Given the description of an element on the screen output the (x, y) to click on. 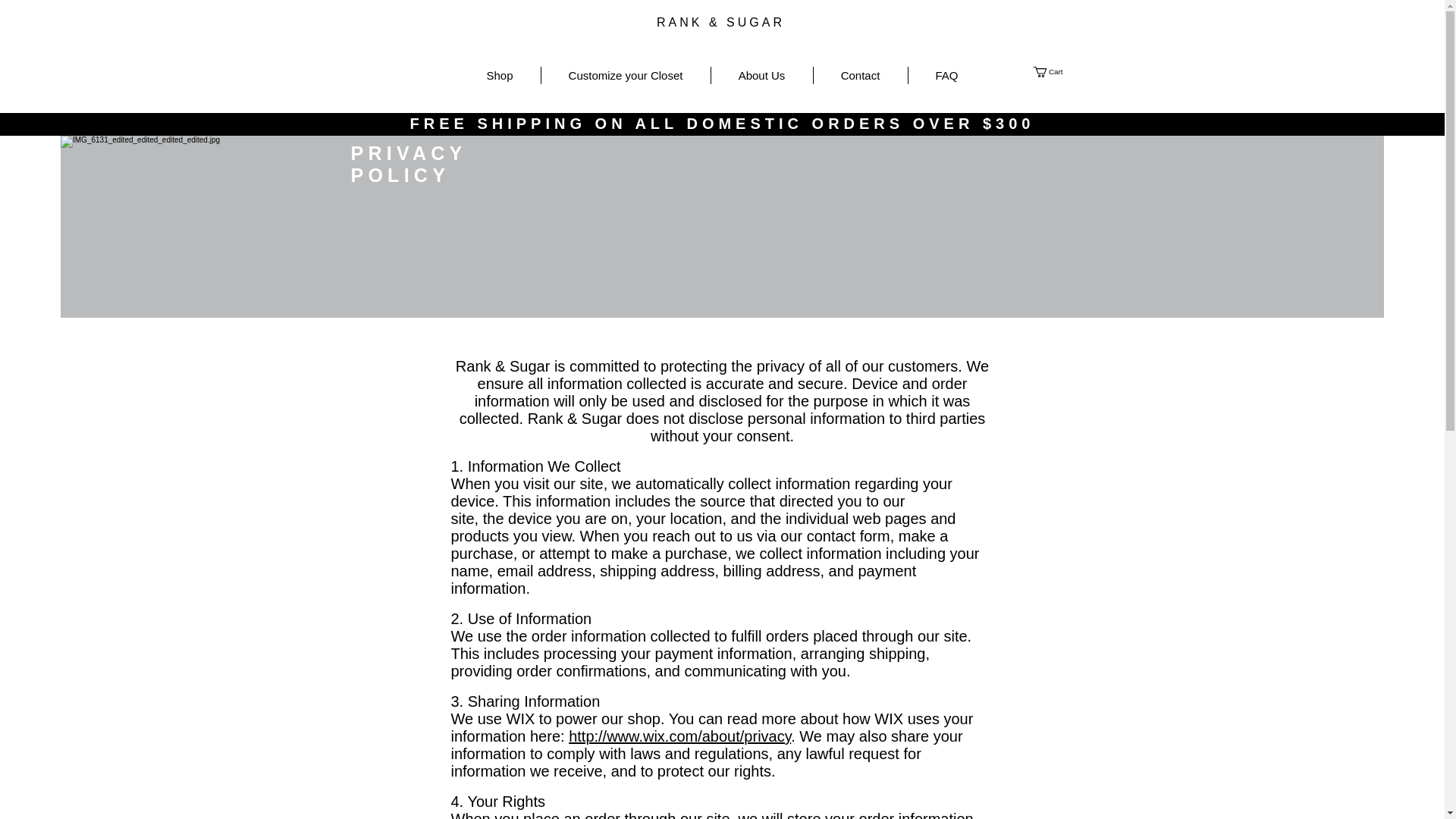
FAQ (946, 75)
Contact (859, 75)
About Us (761, 75)
Customize your Closet (625, 75)
Cart (1052, 71)
Cart (1052, 71)
